Given the description of an element on the screen output the (x, y) to click on. 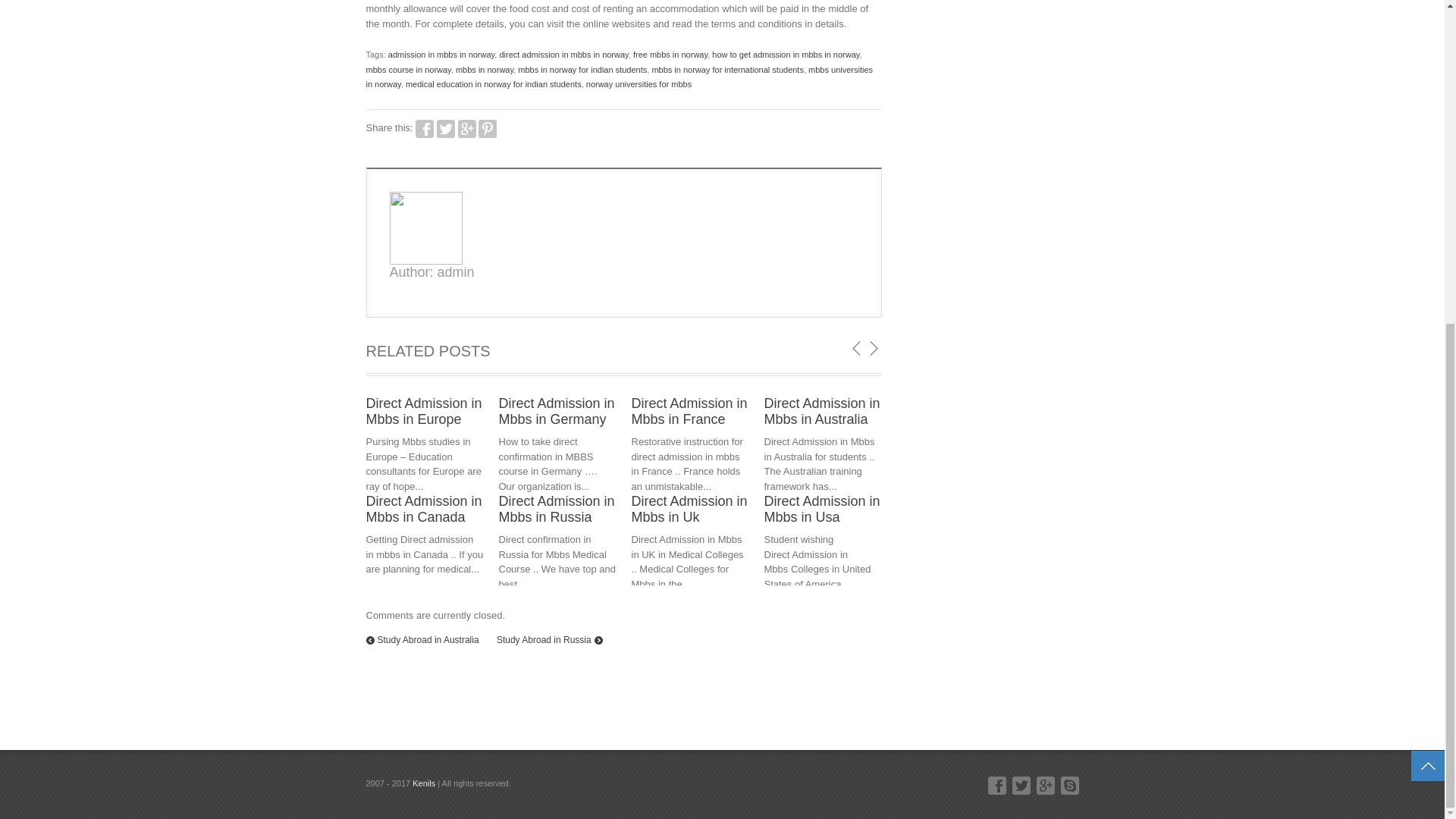
medical education in norway for indian students (493, 83)
mbbs in norway for indian students (582, 69)
how to get admission in mbbs in norway (785, 53)
norway universities for mbbs (638, 83)
mbbs in norway for international students (726, 69)
direct admission in mbbs in norway (563, 53)
mbbs course in norway (407, 69)
free mbbs in norway (670, 53)
admission in mbbs in norway (441, 53)
mbbs in norway (484, 69)
